Given the description of an element on the screen output the (x, y) to click on. 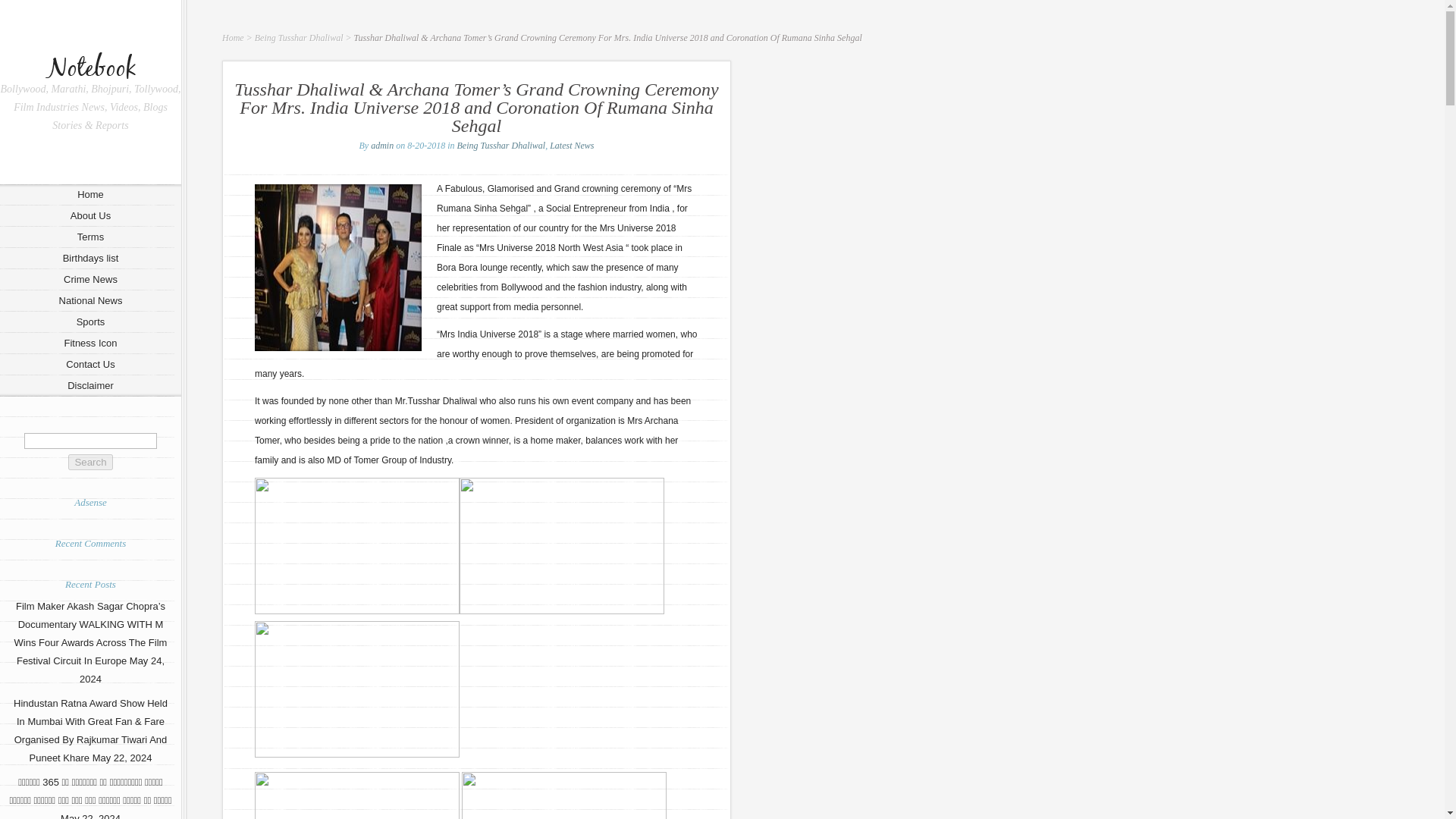
National News (90, 301)
Posts by admin (382, 145)
About Us (90, 216)
Crime News (90, 279)
Birthdays list (90, 258)
Search (90, 462)
Sports (90, 322)
Search (90, 462)
Disclaimer (90, 385)
Terms (90, 237)
